Given the description of an element on the screen output the (x, y) to click on. 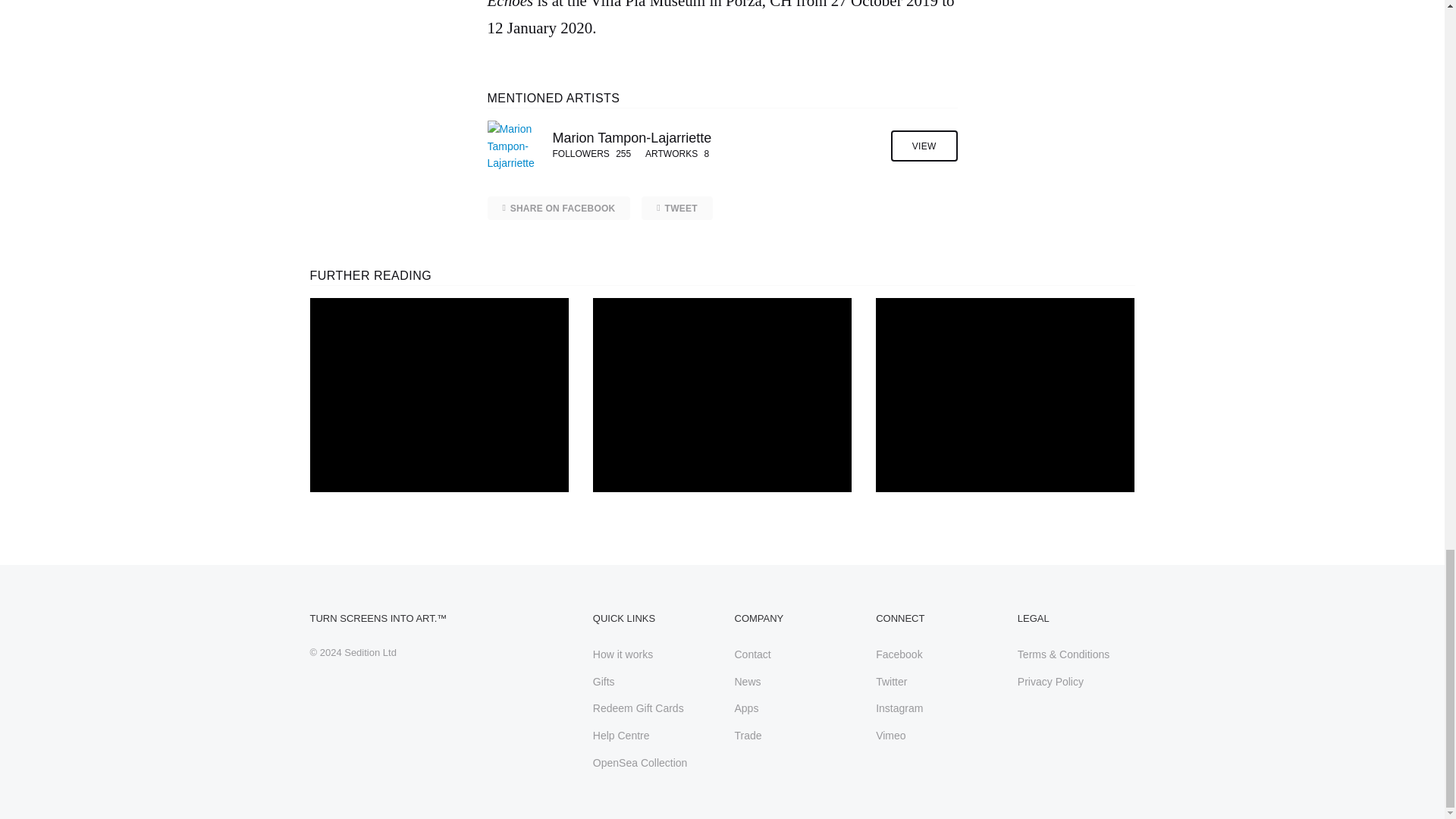
TWEET (676, 208)
Marion Tampon-Lajarriette (714, 137)
Gifts (603, 681)
Apps (745, 707)
VIEW (924, 145)
OpenSea Collection (639, 762)
Redeem Gift Cards (638, 707)
Contact (751, 654)
How it works (622, 654)
News (746, 681)
